Given the description of an element on the screen output the (x, y) to click on. 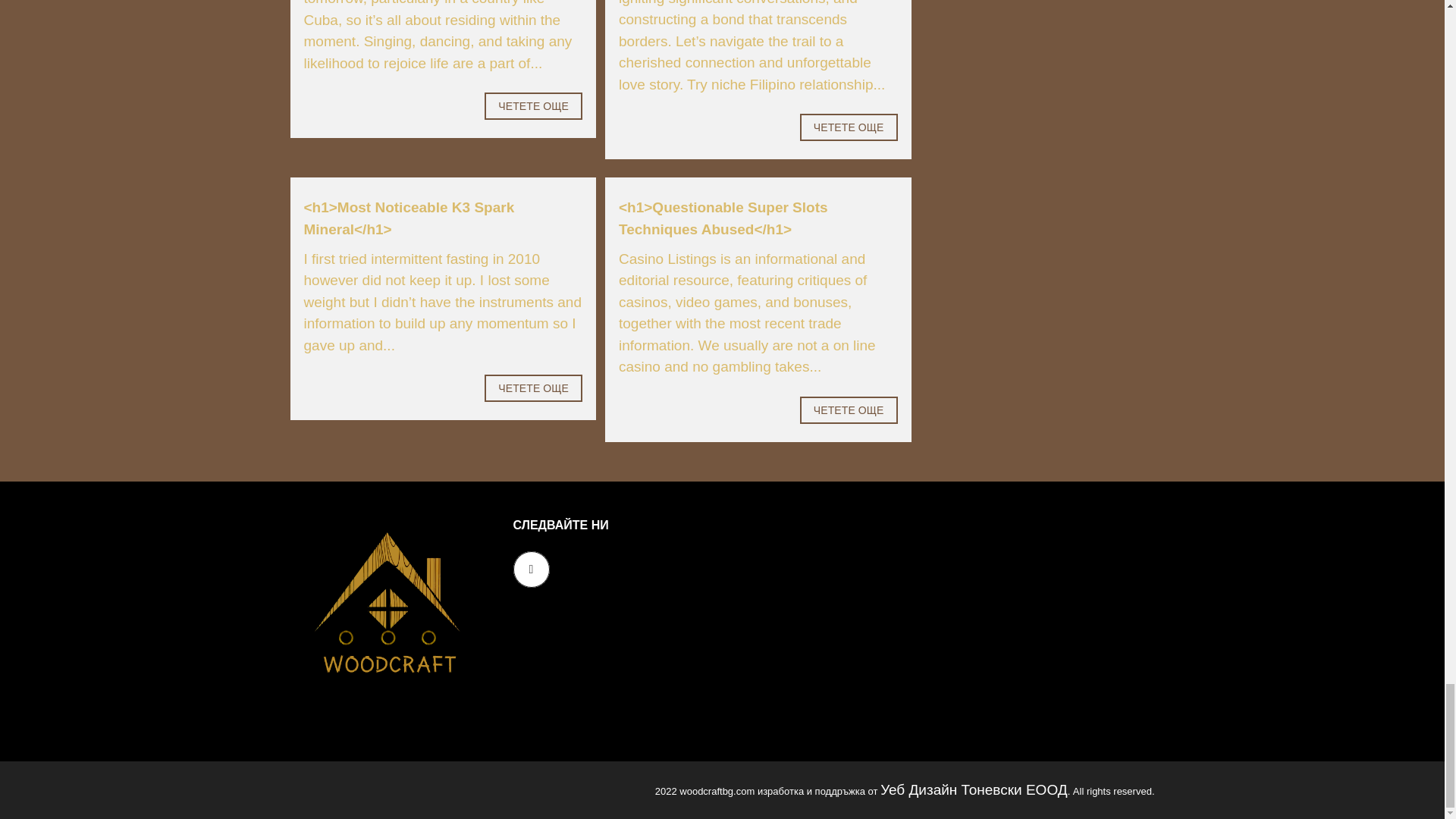
Questionable Super Slots Techniques Abused (723, 218)
Most Noticeable K3 Spark Mineral (407, 218)
Most Noticeable K3 Spark Mineral (533, 388)
The Dirty Truth on Philippines Women (848, 126)
Questionable Super Slots Techniques Abused (848, 410)
